Given the description of an element on the screen output the (x, y) to click on. 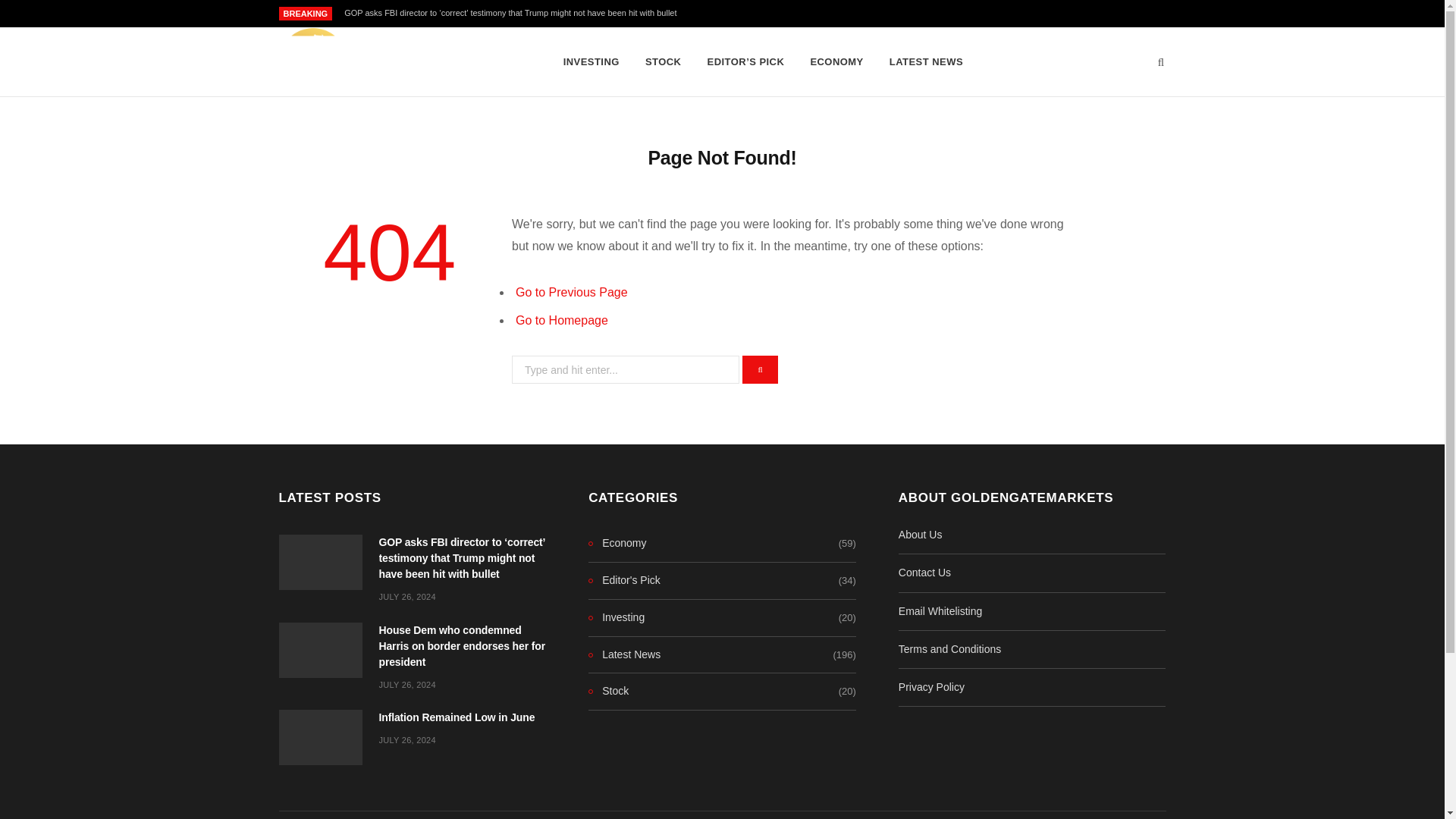
Economy (617, 543)
LATEST NEWS (925, 61)
Investing (616, 618)
Contact Us (924, 572)
Stock (608, 691)
JULY 26, 2024 (406, 596)
About Us (920, 534)
ECONOMY (836, 61)
Go to Previous Page (571, 291)
Search for: (625, 369)
Latest News (624, 655)
INVESTING (590, 61)
Privacy Policy (930, 686)
